Given the description of an element on the screen output the (x, y) to click on. 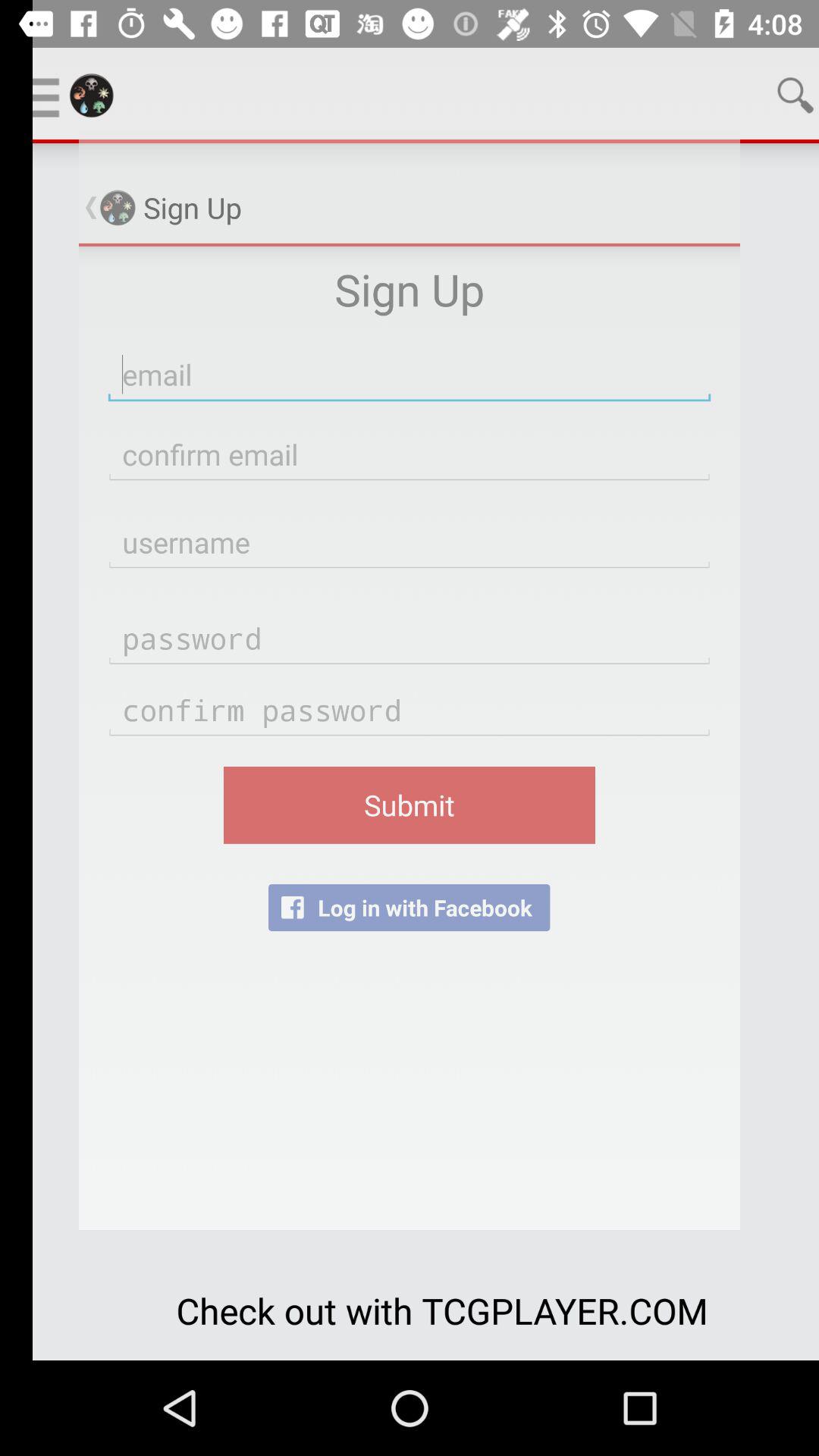
click on the button which is at the top right corner of the page (763, 95)
click on the search icon (763, 95)
